Given the description of an element on the screen output the (x, y) to click on. 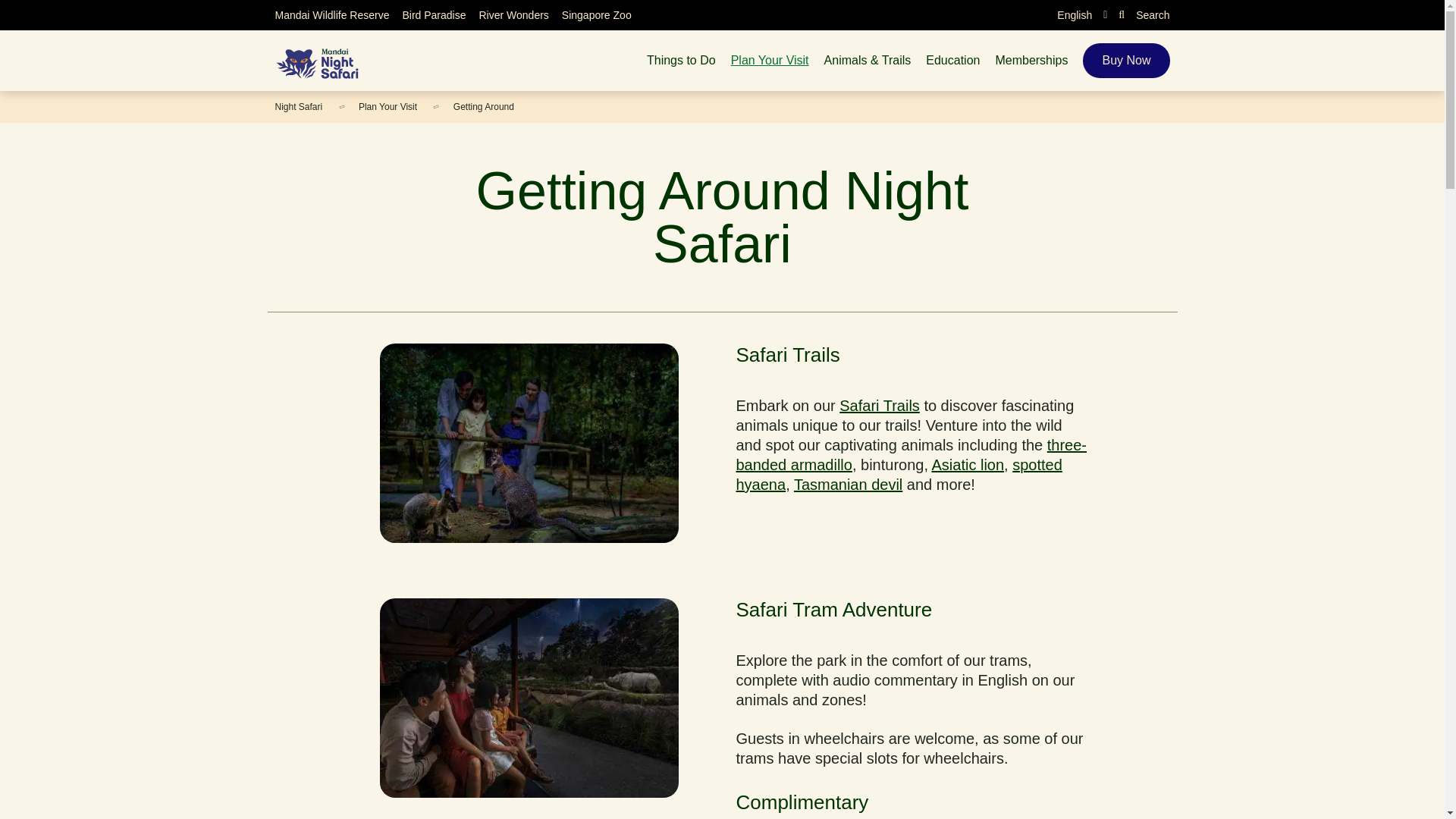
Singapore Zoo (596, 15)
Mandai Wildlife Reserve (331, 15)
Singapore Zoo (596, 15)
Bird Paradise (433, 15)
Things to Do (681, 60)
River Wonders (513, 15)
Mandai Wildlife Reserve (331, 15)
Bird Paradise (433, 15)
River Wonders (513, 15)
